Given the description of an element on the screen output the (x, y) to click on. 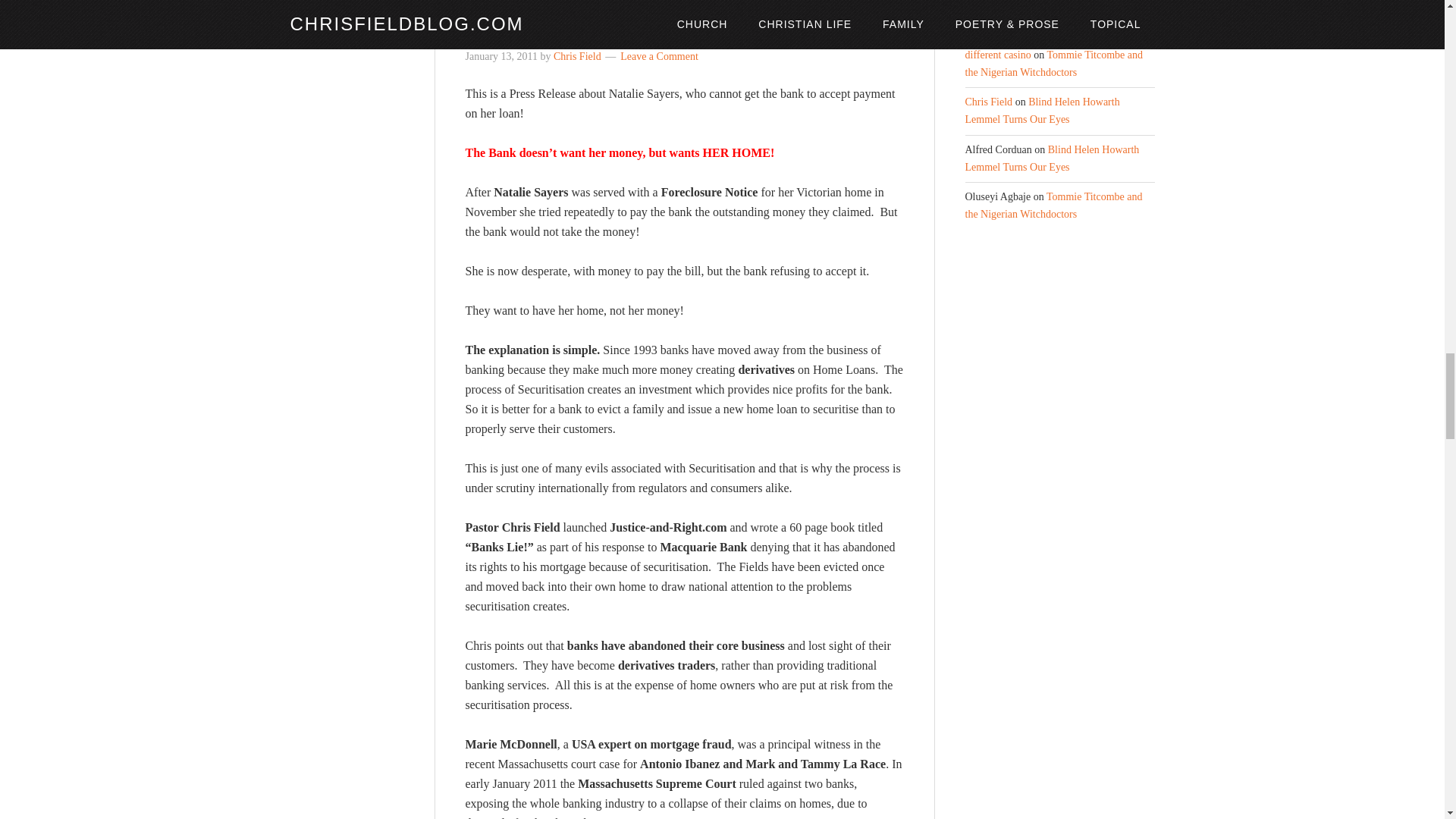
Leave a Comment (659, 56)
Chris Field (577, 56)
Banks Abandon Core Business and Customers (680, 18)
